Given the description of an element on the screen output the (x, y) to click on. 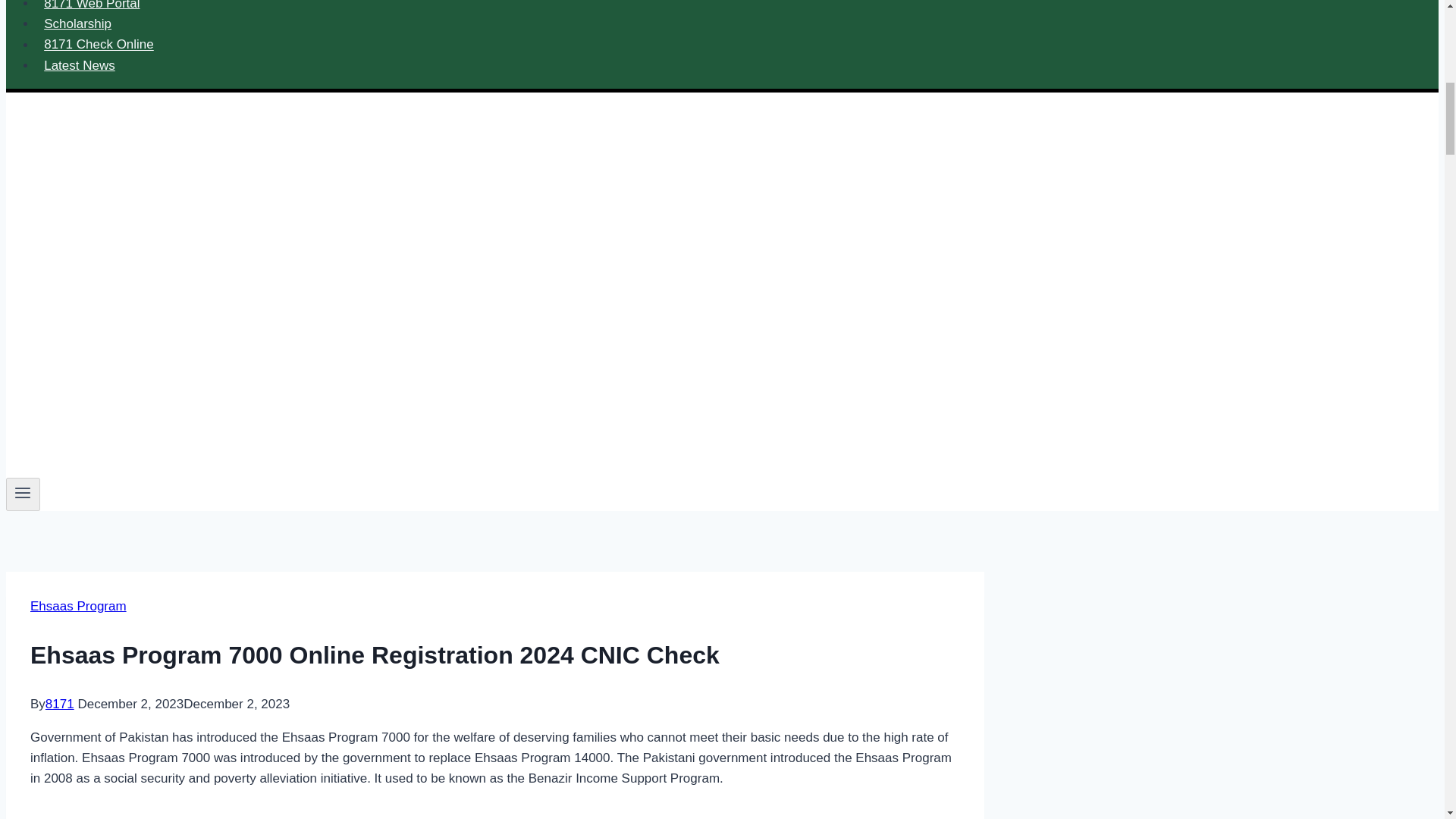
8171 Check Online (98, 43)
Scholarship (77, 23)
Toggle Menu (22, 493)
Toggle Menu (22, 494)
8171 Web Portal (92, 9)
Latest News (79, 64)
Ehsaas Program (78, 605)
8171 (59, 703)
